Given the description of an element on the screen output the (x, y) to click on. 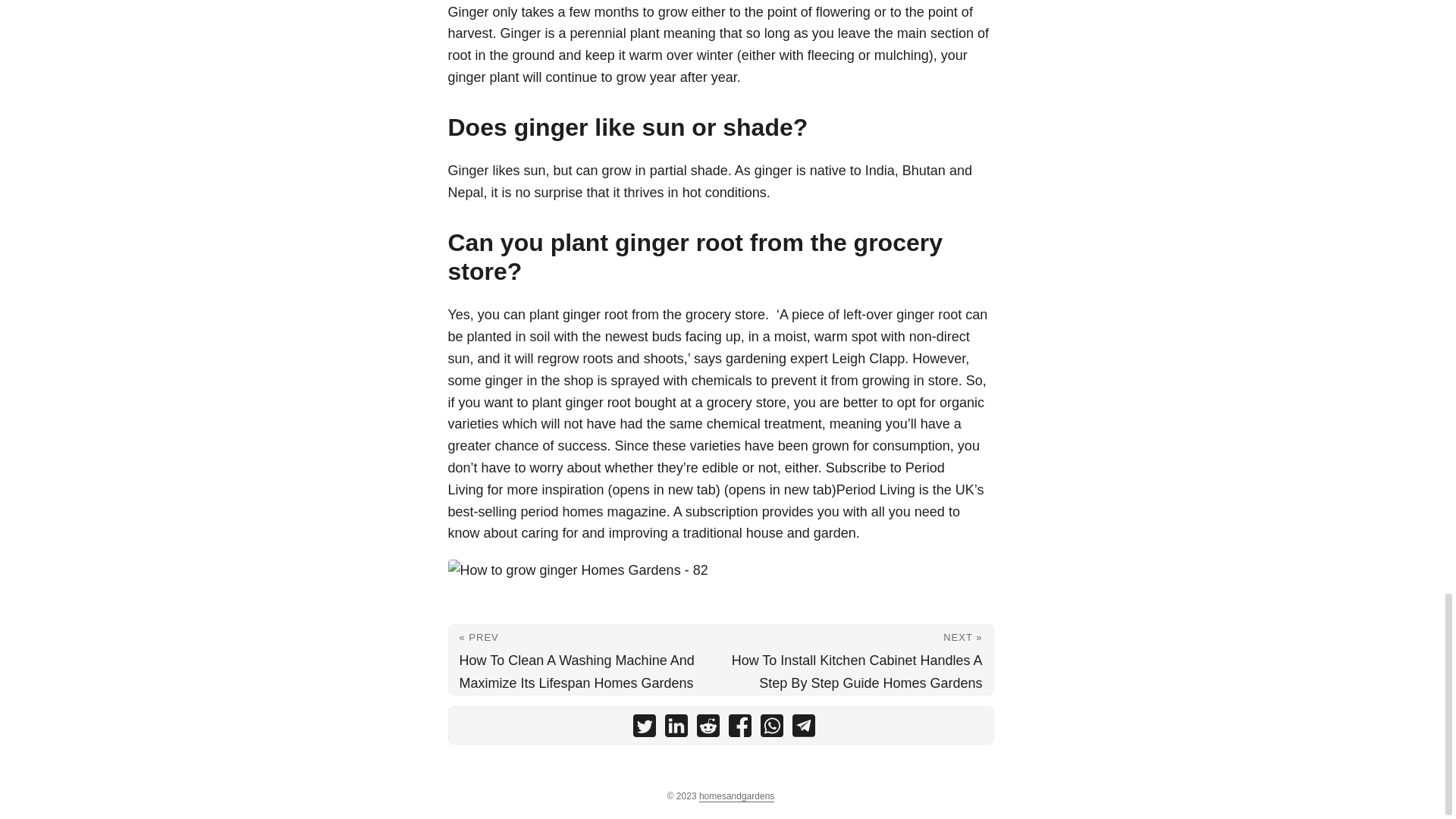
homesandgardens (736, 796)
